Given the description of an element on the screen output the (x, y) to click on. 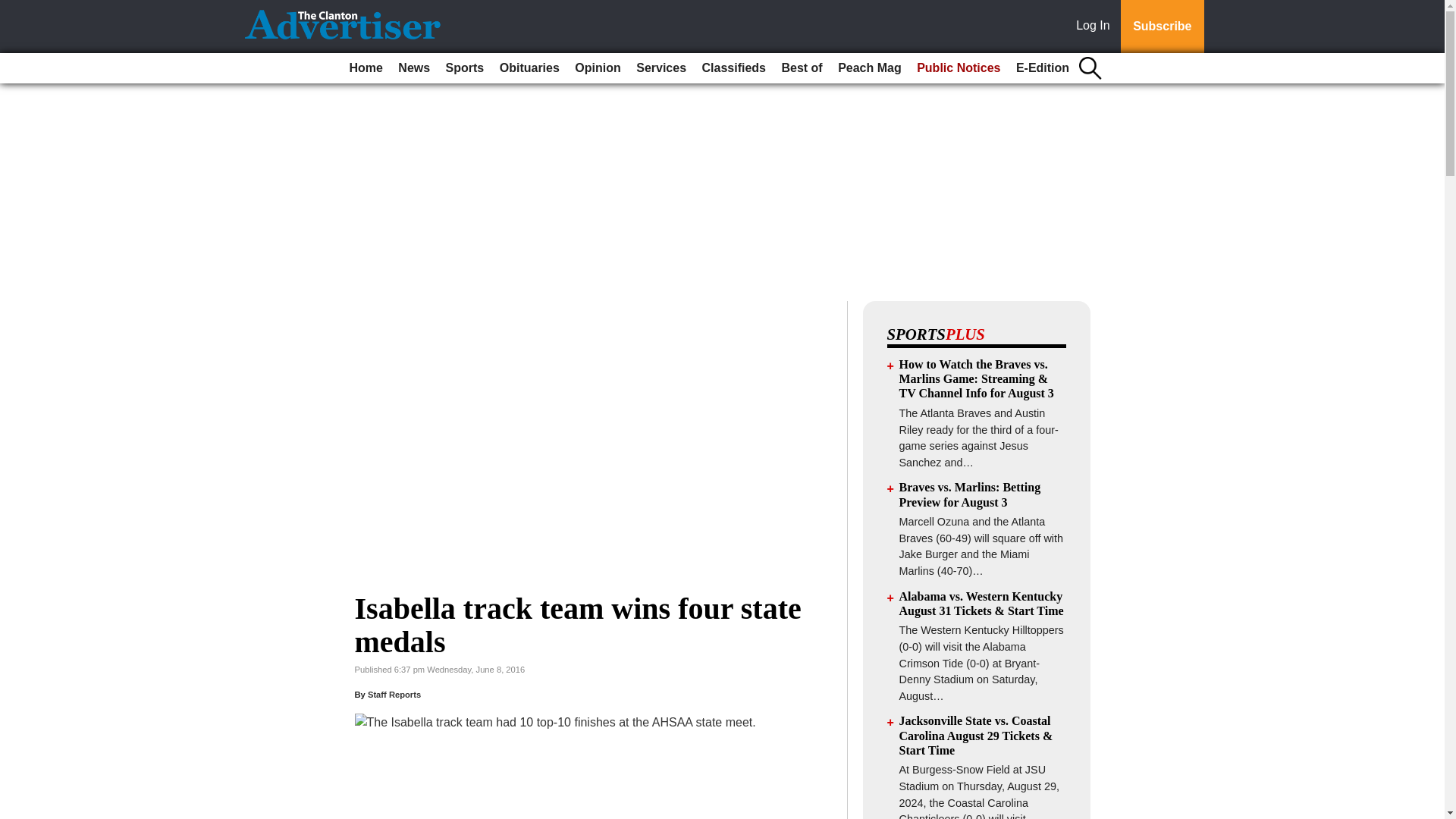
Go (13, 9)
Log In (1095, 26)
Best of (801, 68)
Home (365, 68)
Sports (464, 68)
Peach Mag (869, 68)
E-Edition (1042, 68)
Public Notices (958, 68)
Services (661, 68)
Staff Reports (394, 694)
